Given the description of an element on the screen output the (x, y) to click on. 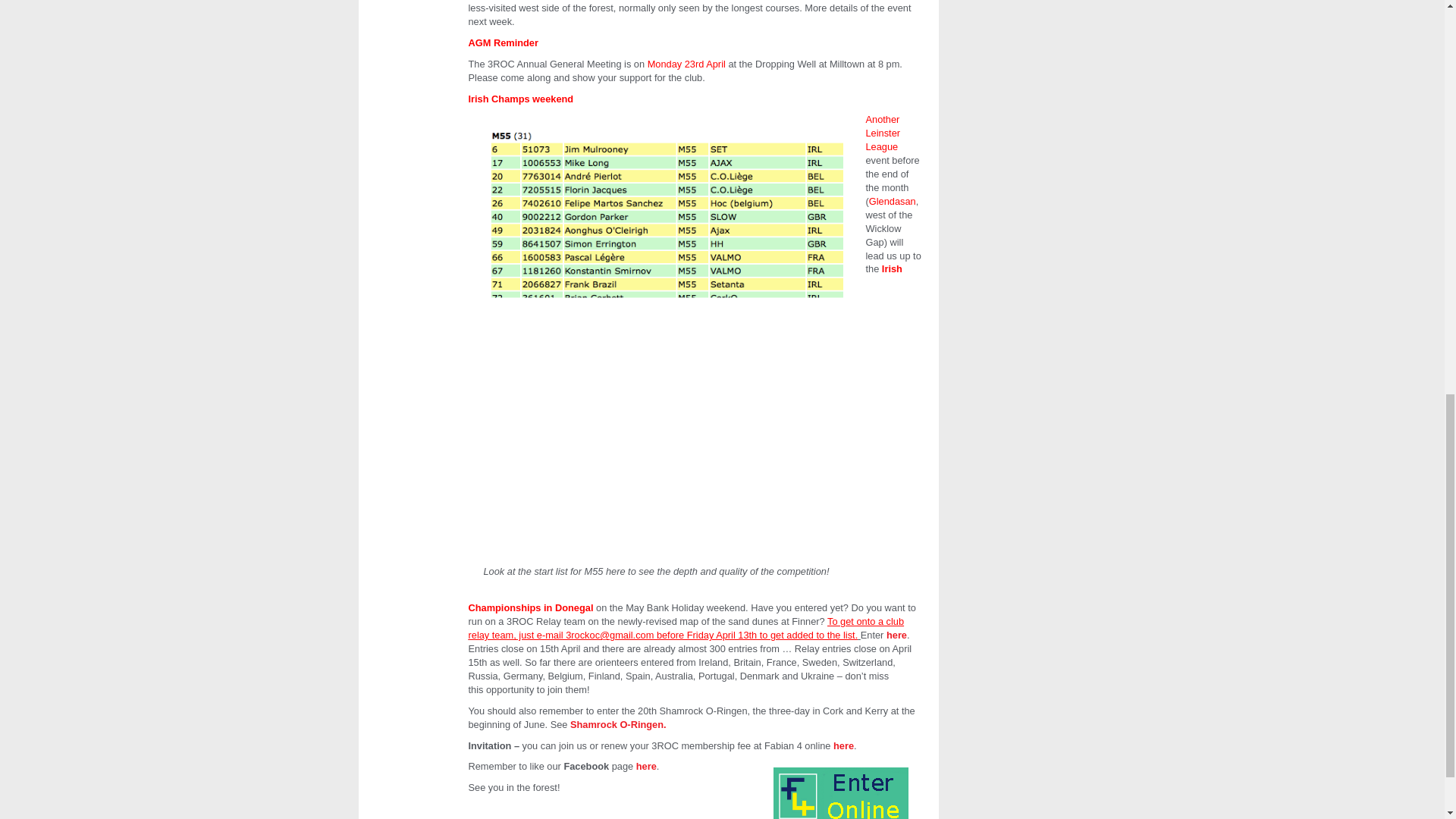
Shamrock O-Ringen. (618, 724)
here (646, 766)
here (896, 634)
here (842, 745)
